Given the description of an element on the screen output the (x, y) to click on. 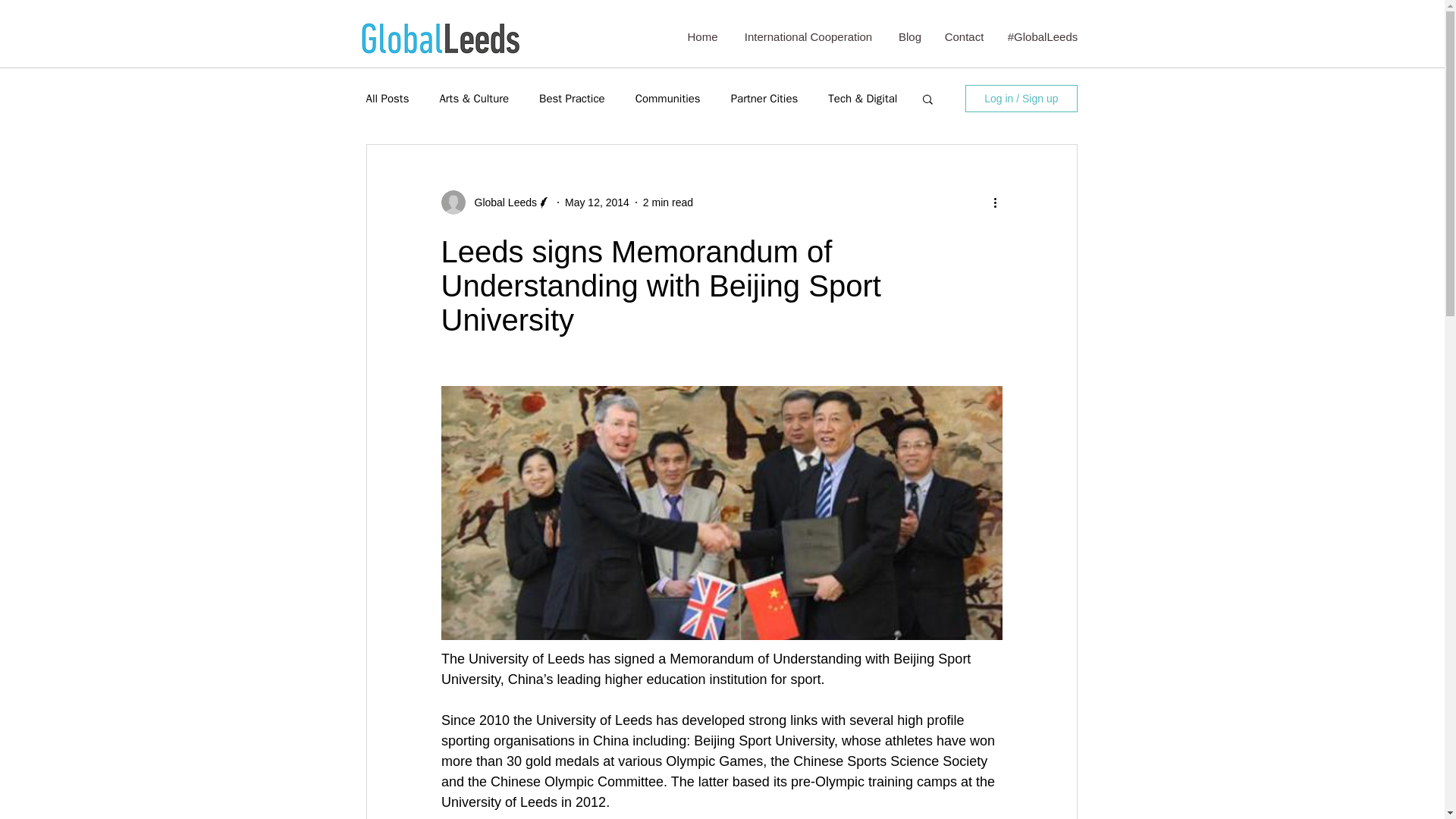
Partner Cities (763, 97)
International Cooperation (807, 36)
Blog (909, 36)
2 min read (668, 201)
All Posts (387, 97)
Contact (963, 36)
Communities (667, 97)
Global Leeds (501, 201)
May 12, 2014 (596, 201)
Home (702, 36)
